Given the description of an element on the screen output the (x, y) to click on. 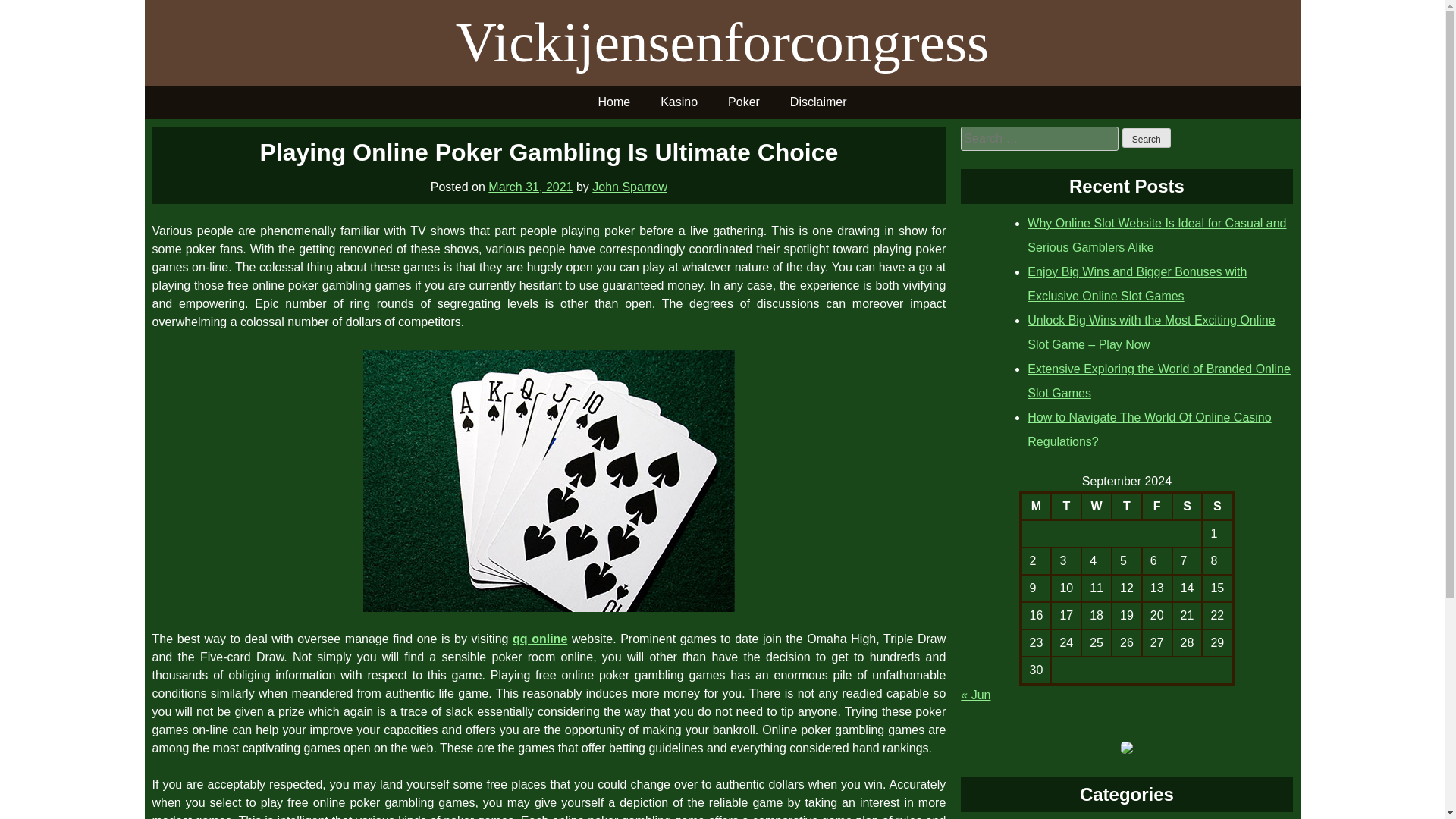
How to Navigate The World Of Online Casino Regulations? (1149, 429)
Search (1146, 137)
Thursday (1126, 505)
Extensive Exploring the World of Branded Online Slot Games (1158, 380)
Wednesday (1096, 505)
Tuesday (1066, 505)
qq online (539, 638)
Saturday (1187, 505)
March 31, 2021 (529, 186)
Vickijensenforcongress (722, 41)
